Given the description of an element on the screen output the (x, y) to click on. 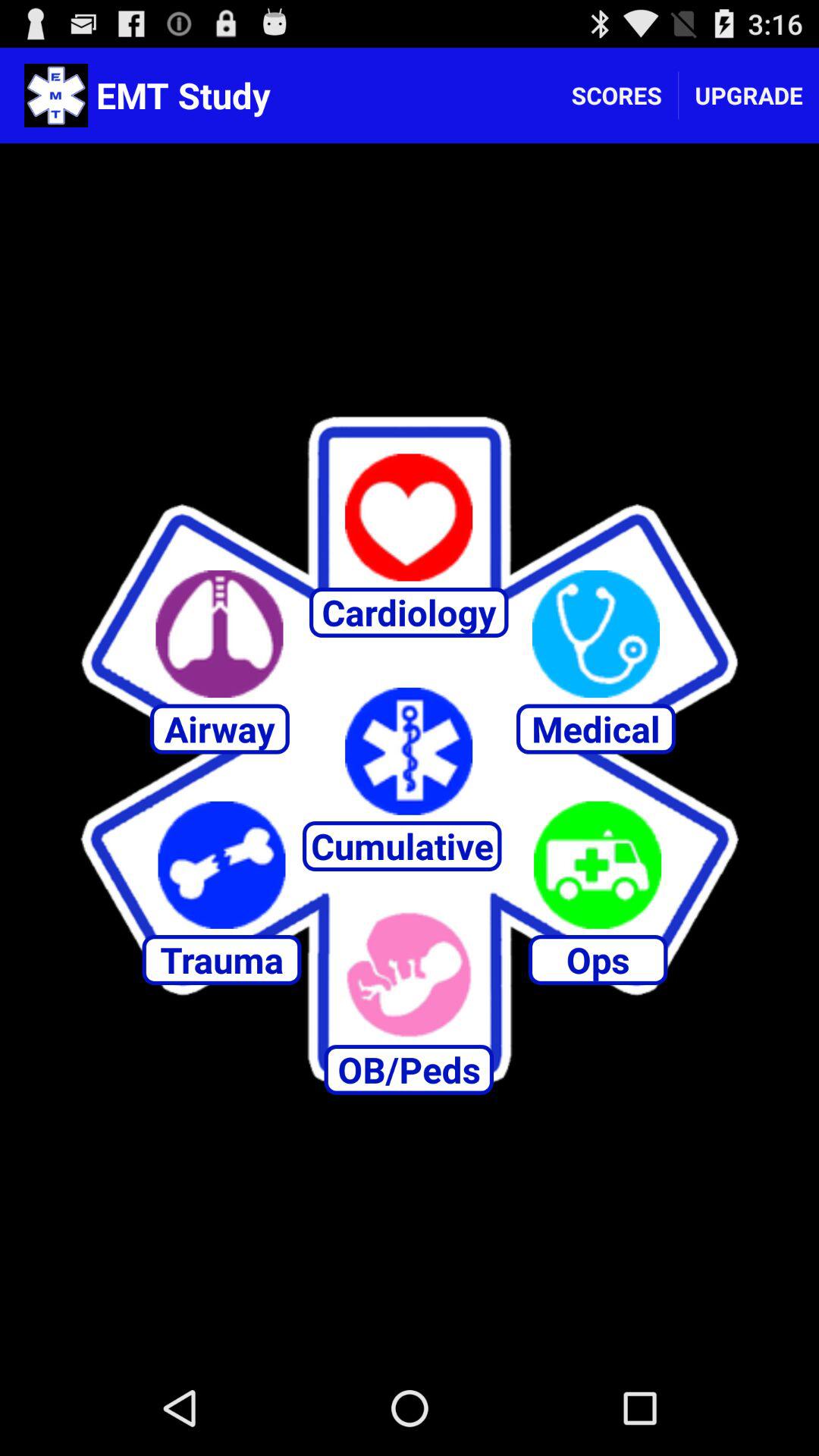
click the trauma option (221, 864)
